Given the description of an element on the screen output the (x, y) to click on. 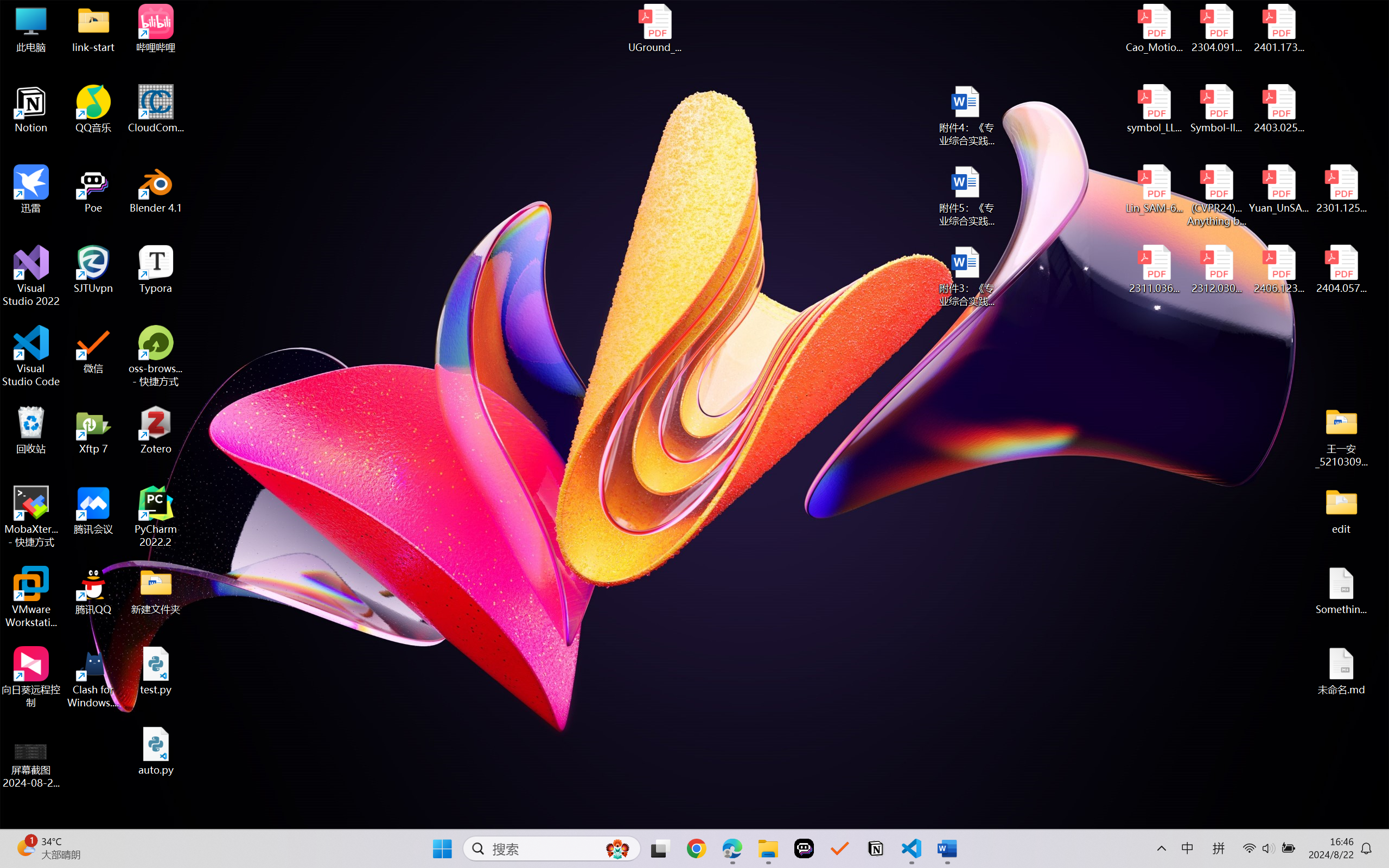
2304.09121v3.pdf (1216, 28)
2311.03658v2.pdf (1154, 269)
Blender 4.1 (156, 189)
PyCharm 2022.2 (156, 516)
